Given the description of an element on the screen output the (x, y) to click on. 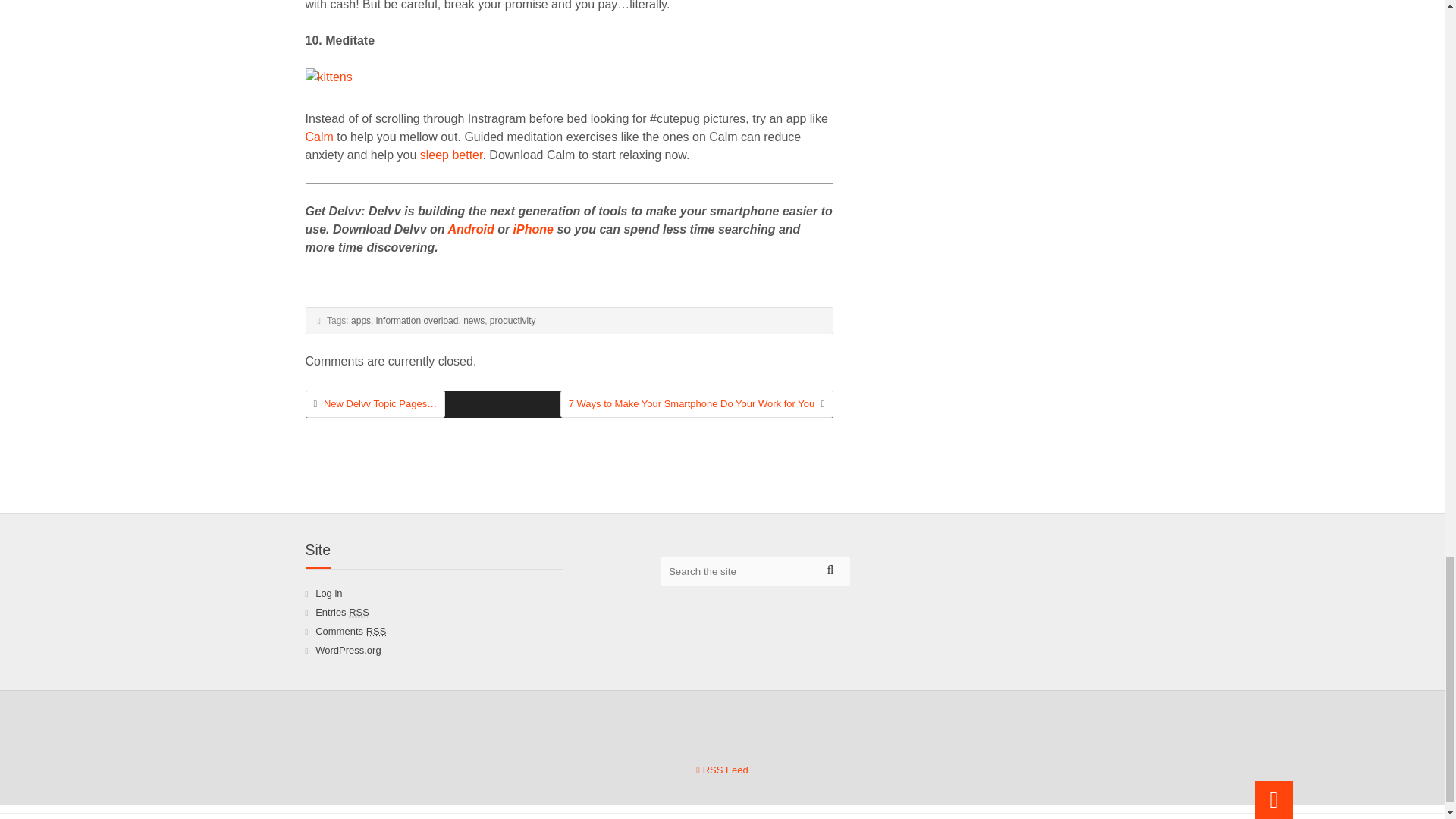
productivity (512, 320)
Really Simple Syndication (376, 631)
apps (360, 320)
information overload (416, 320)
iPhone (533, 228)
7 Ways to Make Your Smartphone Do Your Work for You (691, 403)
Log in (328, 593)
news (473, 320)
Really Simple Syndication (359, 612)
